Given the description of an element on the screen output the (x, y) to click on. 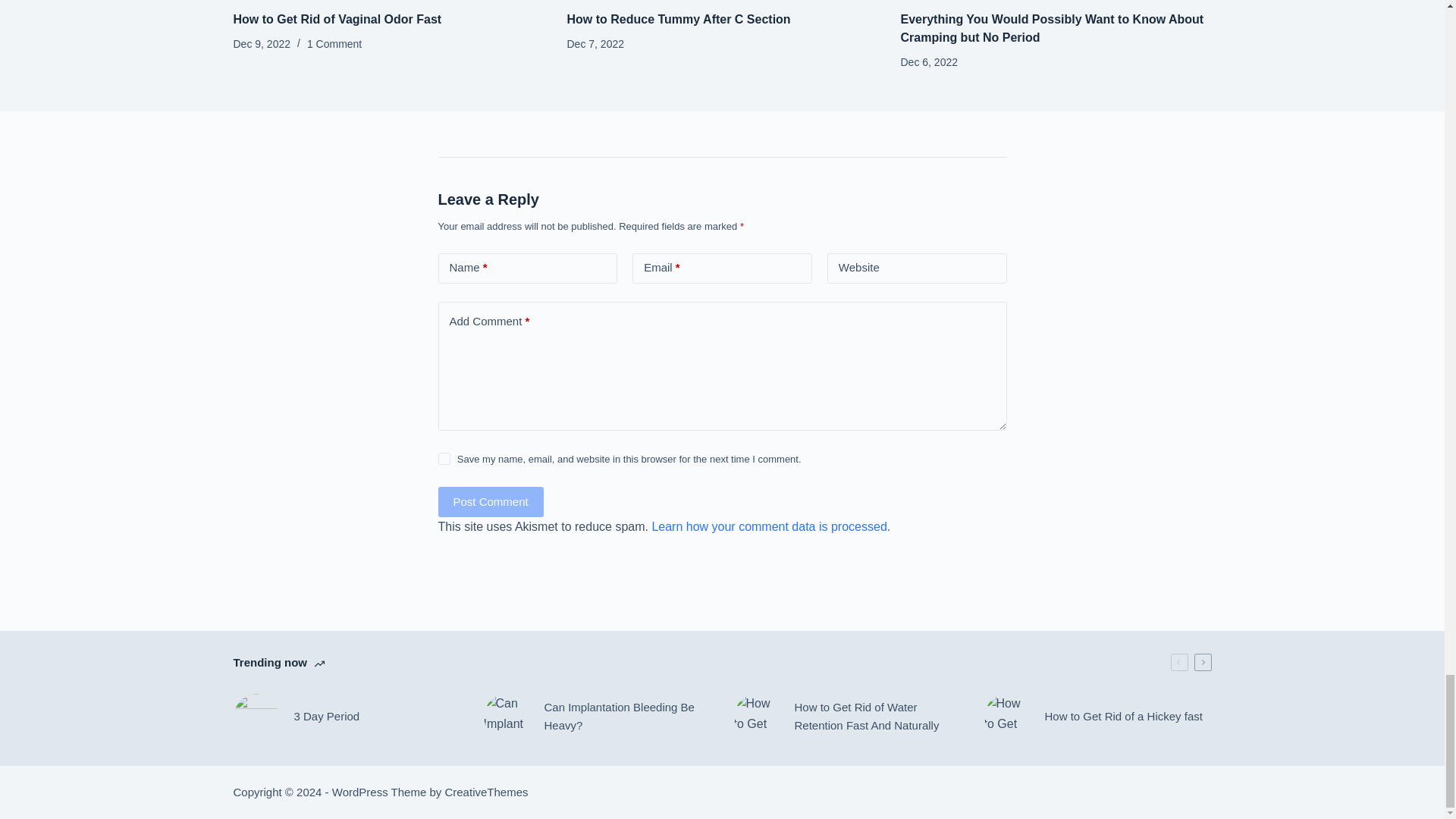
yes (443, 458)
